Given the description of an element on the screen output the (x, y) to click on. 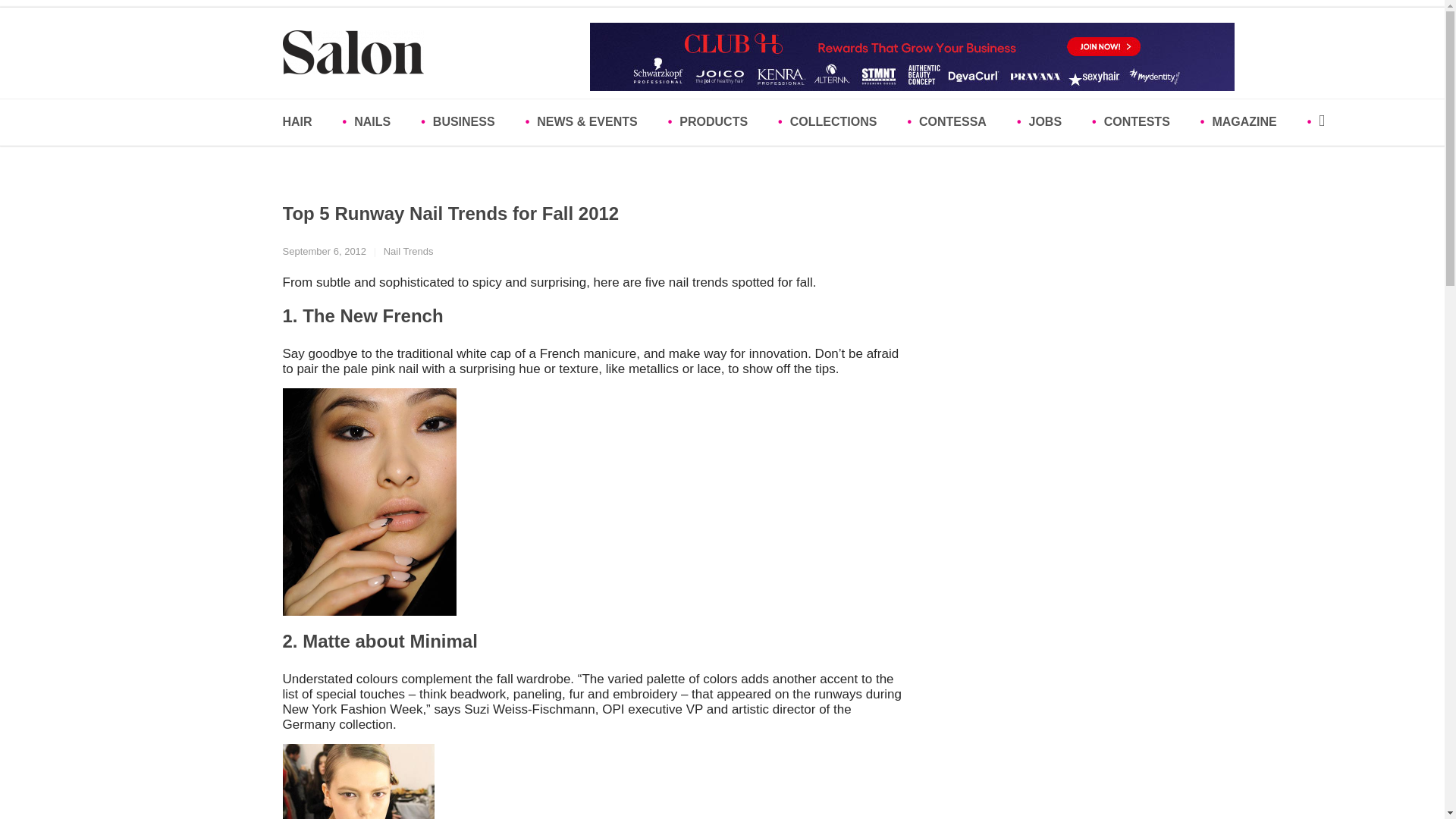
COLLECTIONS (834, 122)
JOBS (1046, 122)
PRODUCTS (715, 122)
MAGAZINE (1246, 122)
HAIR (308, 122)
NAILS (373, 122)
BUSINESS (464, 122)
CONTESTS (1138, 122)
Permalink to Top 5 Runway Nail Trends for Fall 2012 (450, 213)
CONTESSA (954, 122)
